Given the description of an element on the screen output the (x, y) to click on. 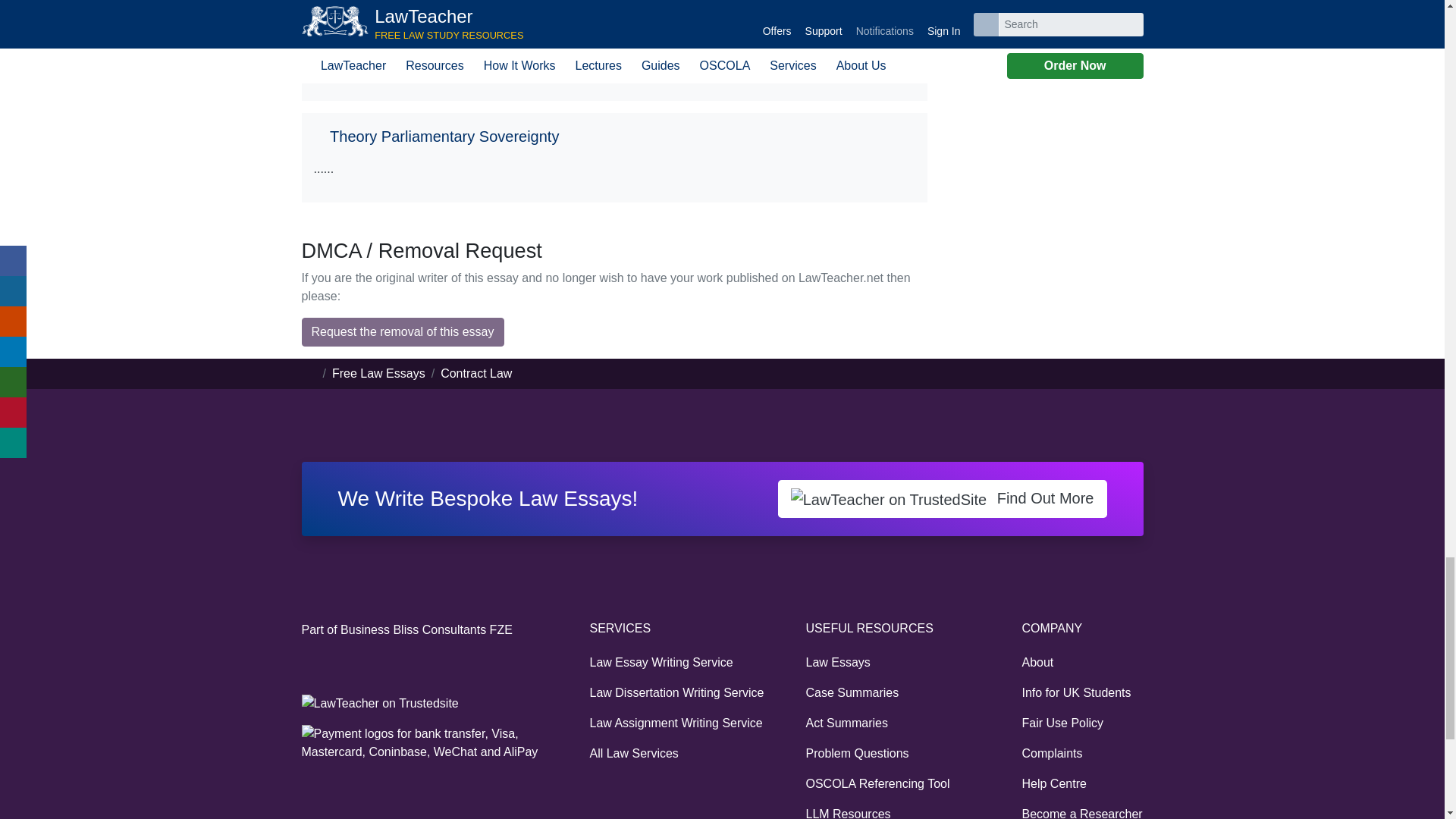
homepage link (309, 373)
